Given the description of an element on the screen output the (x, y) to click on. 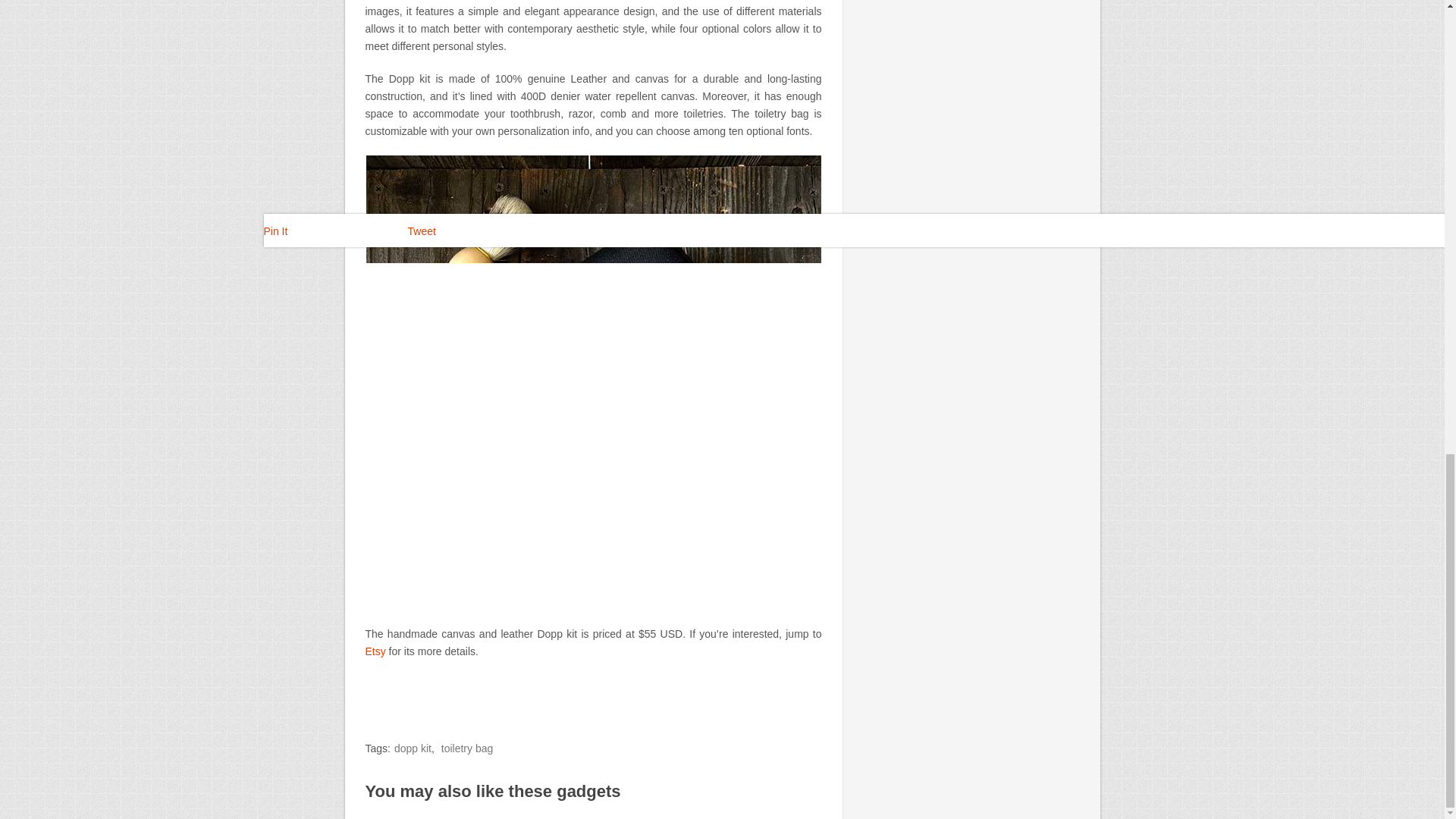
dopp kit (412, 748)
toiletry bag (467, 748)
Etsy (375, 651)
